Given the description of an element on the screen output the (x, y) to click on. 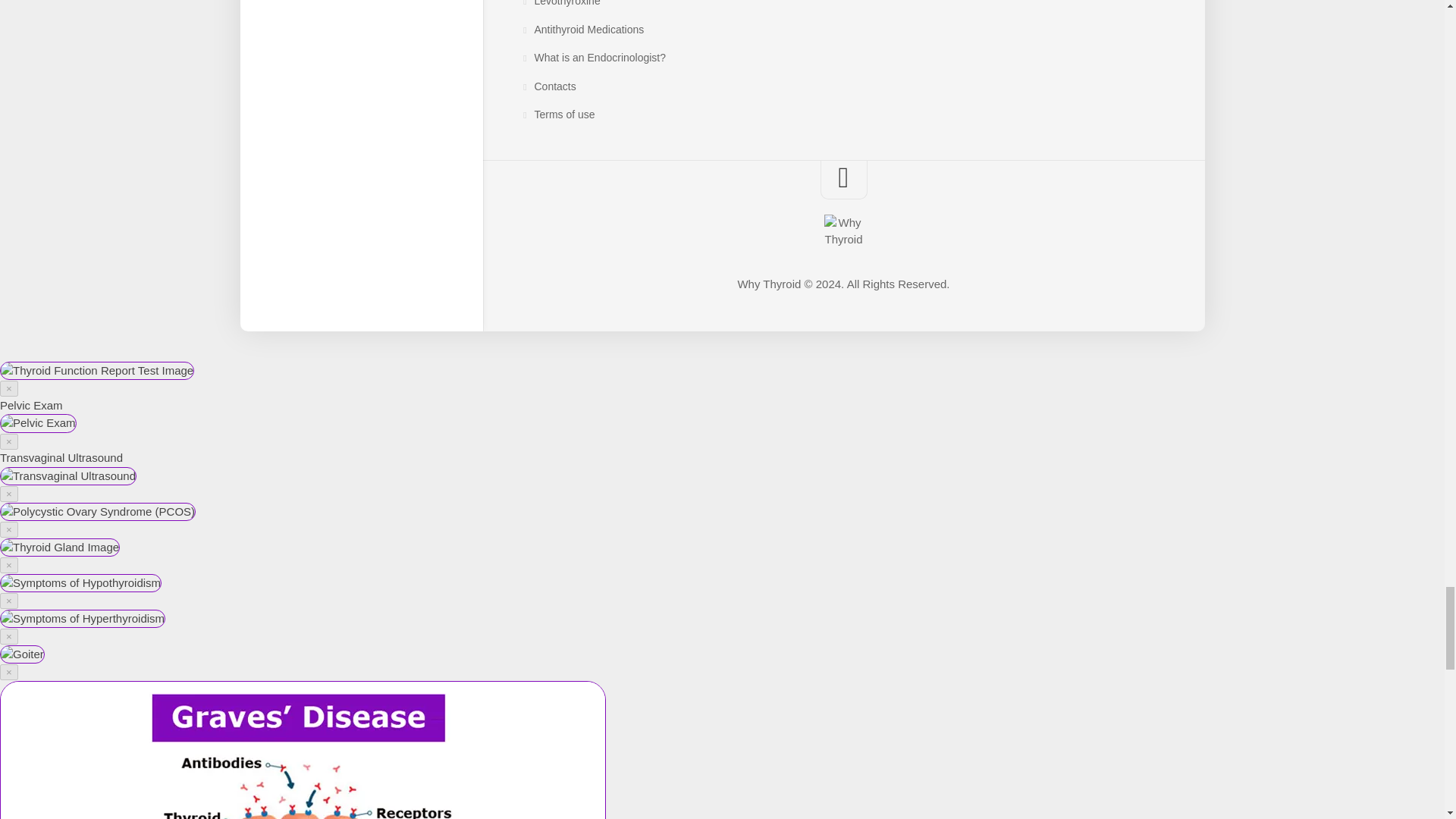
Thyroid Function Test Report Image (96, 370)
